Given the description of an element on the screen output the (x, y) to click on. 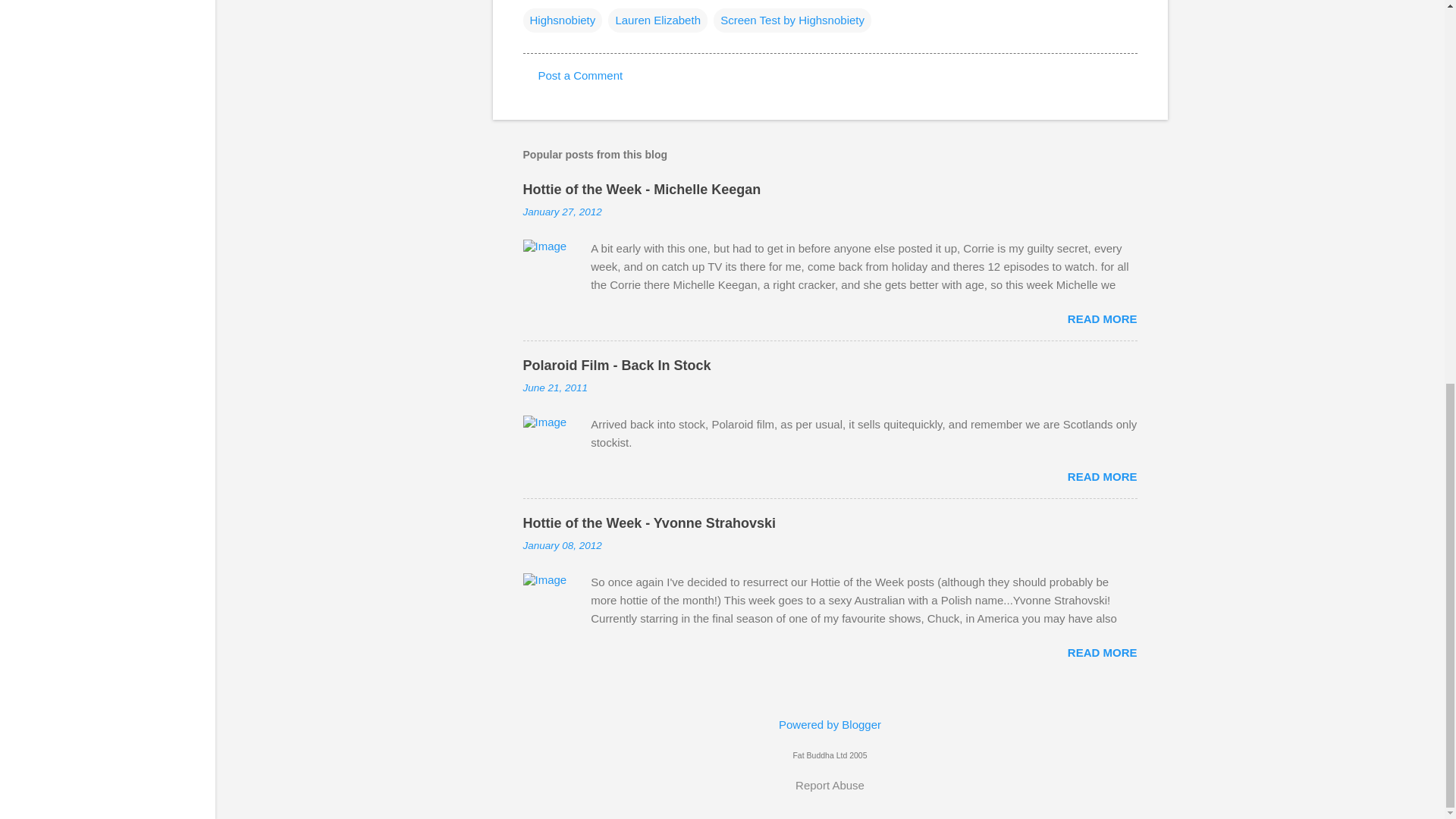
June 21, 2011 (555, 387)
READ MORE (1102, 652)
January 27, 2012 (562, 211)
permanent link (562, 211)
READ MORE (1102, 476)
READ MORE (1102, 318)
Report Abuse (829, 785)
Highsnobiety (562, 19)
Hottie of the Week - Michelle Keegan (641, 189)
Lauren Elizabeth (657, 19)
January 08, 2012 (562, 545)
Polaroid Film - Back In Stock (616, 365)
Hottie of the Week - Yvonne Strahovski (649, 522)
Post a Comment (580, 74)
Powered by Blogger (829, 724)
